Given the description of an element on the screen output the (x, y) to click on. 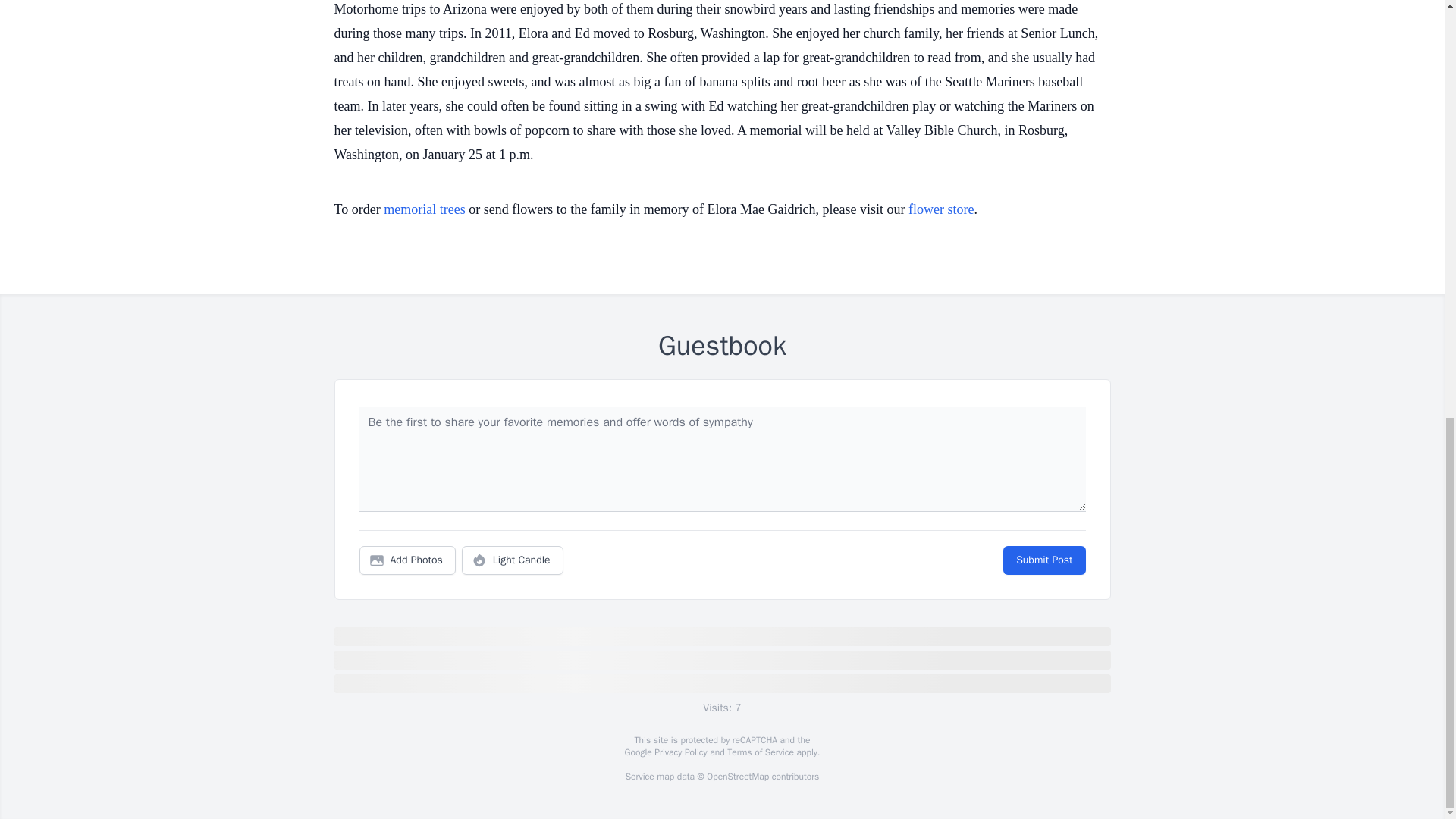
Light Candle (512, 560)
Privacy Policy (679, 752)
memorial trees (424, 209)
OpenStreetMap (737, 776)
Submit Post (1043, 560)
Terms of Service (759, 752)
flower store (941, 209)
Add Photos (407, 560)
